Given the description of an element on the screen output the (x, y) to click on. 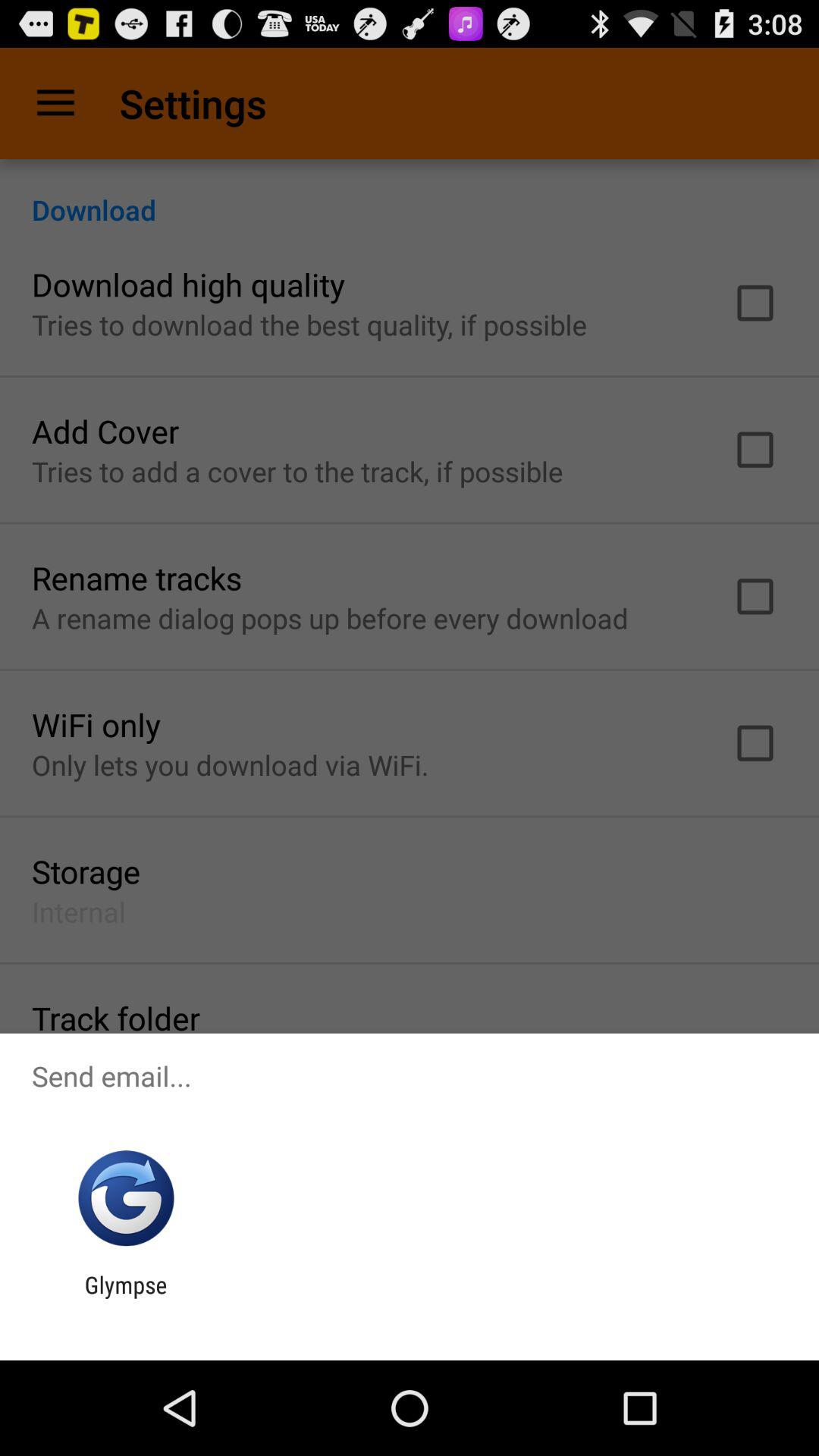
tap the glympse icon (125, 1298)
